Given the description of an element on the screen output the (x, y) to click on. 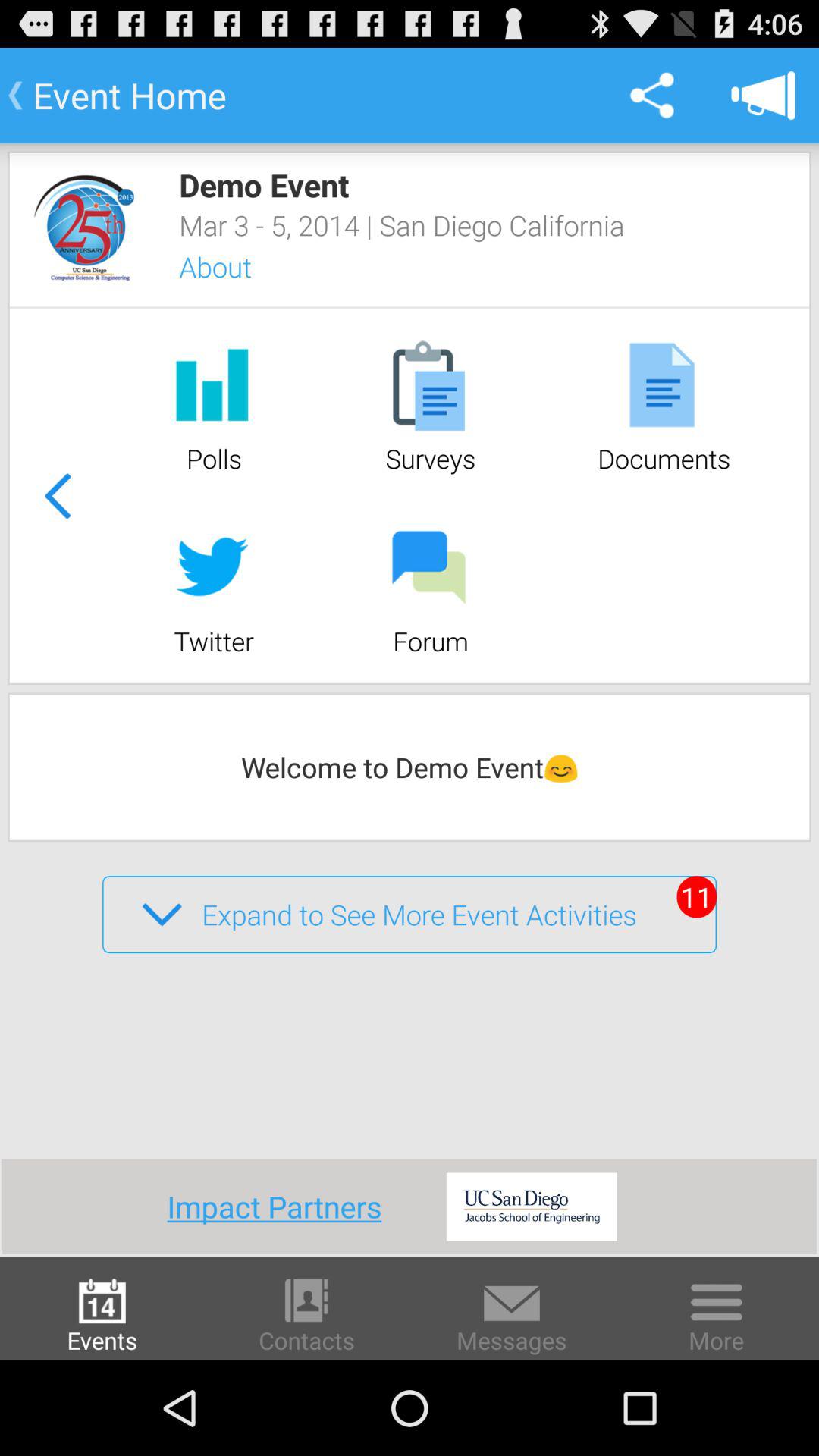
swipe to impact partners (279, 1206)
